Given the description of an element on the screen output the (x, y) to click on. 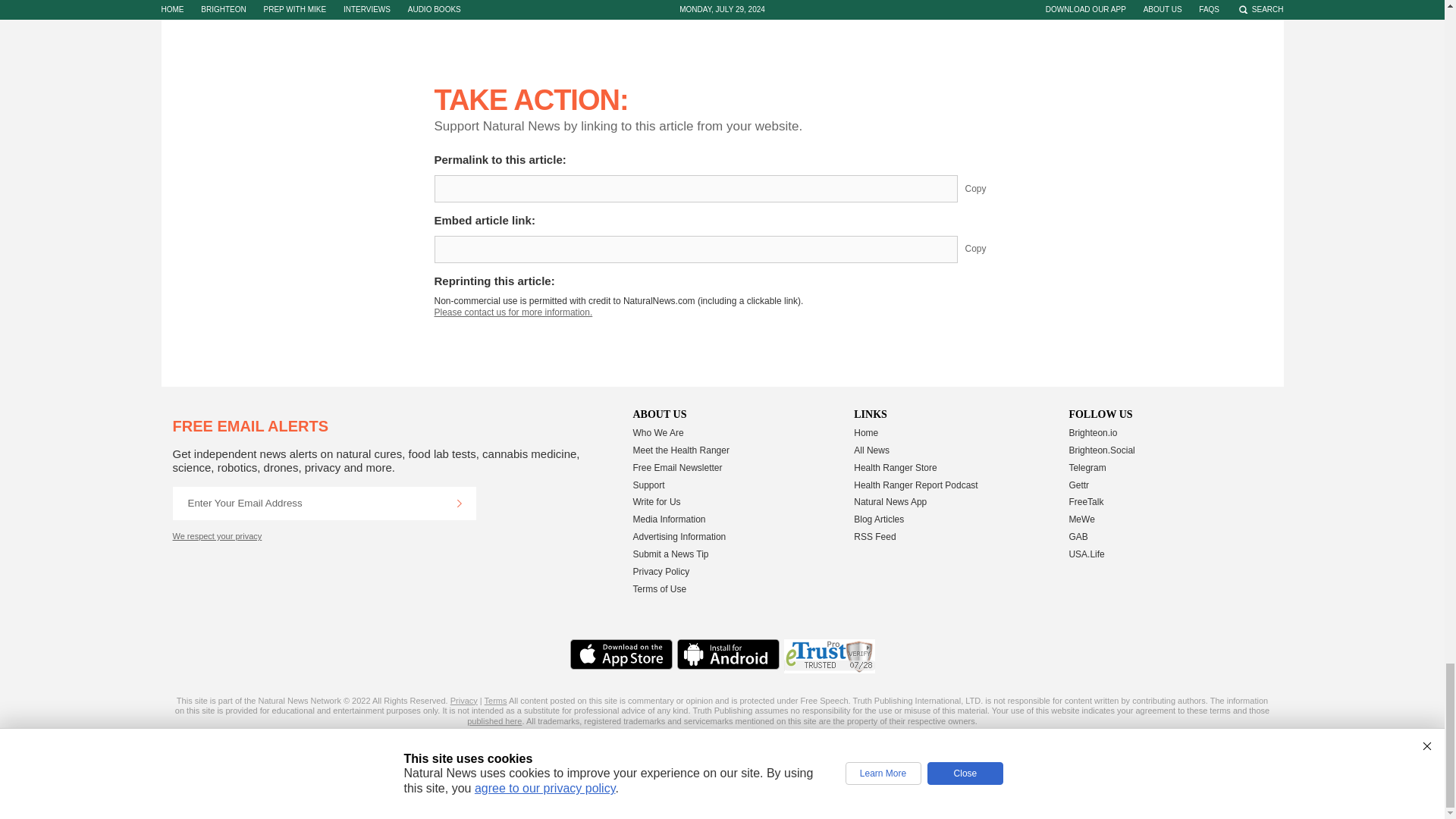
Continue (459, 503)
eTrust Pro Certified (829, 656)
Copy Embed Link (986, 248)
Copy Permalink (986, 188)
